Given the description of an element on the screen output the (x, y) to click on. 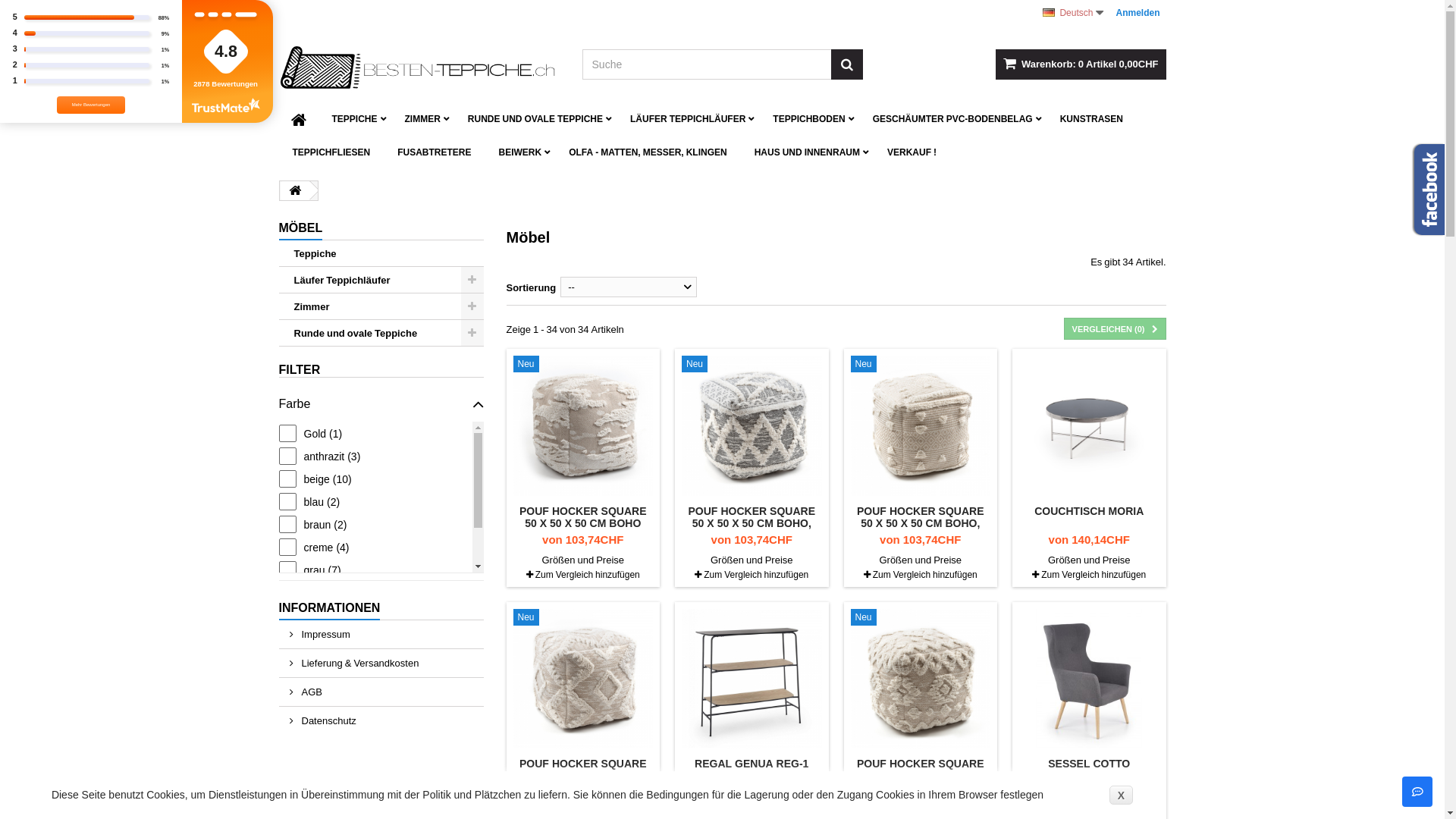
Runde und ovale Teppiche Element type: text (381, 333)
BEIWERK Element type: text (520, 152)
Lieferung & Versandkosten Element type: text (381, 663)
Mehr Bewertungen Element type: text (90, 104)
Anmelden Element type: text (1137, 12)
Neu Element type: text (547, 363)
SESSEL COTTO DUNKELGRAU Element type: text (1088, 769)
Datenschutz Element type: text (381, 720)
AGB Element type: text (381, 691)
COUCHTISCH MORIA Element type: text (1088, 510)
Zimmer Element type: text (381, 306)
Neu Element type: text (547, 616)
VERKAUF ! Element type: text (911, 152)
Impressum Element type: text (381, 634)
TEPPICHE Element type: text (354, 118)
Warenkorb: 0 Artikel 0,00CHF Element type: text (1080, 63)
Teppiche Element type: text (381, 253)
OLFA - MATTEN, MESSER, KLINGEN Element type: text (647, 152)
INFORMATIONEN Element type: text (329, 608)
VERGLEICHEN (0) Element type: text (1114, 328)
KUNSTRASEN Element type: text (1091, 118)
TEPPICHBODEN Element type: text (808, 118)
REGAL GENUA REG-1 Element type: text (751, 763)
Home Element type: hover (298, 118)
ZIMMER Element type: text (422, 118)
Regal GENUA REG-1 Element type: hover (751, 678)
Neu Element type: text (716, 363)
Neu Element type: text (885, 363)
Couchtisch MORIA Element type: hover (1089, 425)
Sessel COTTO dunkelgrau Element type: hover (1089, 678)
X Element type: text (1120, 794)
HAUS UND INNENRAUM Element type: text (806, 152)
TEPPICHFLIESEN Element type: text (331, 152)
Neu Element type: text (885, 616)
FUSABTRETERE Element type: text (433, 152)
RUNDE UND OVALE TEPPICHE Element type: text (535, 118)
